Given the description of an element on the screen output the (x, y) to click on. 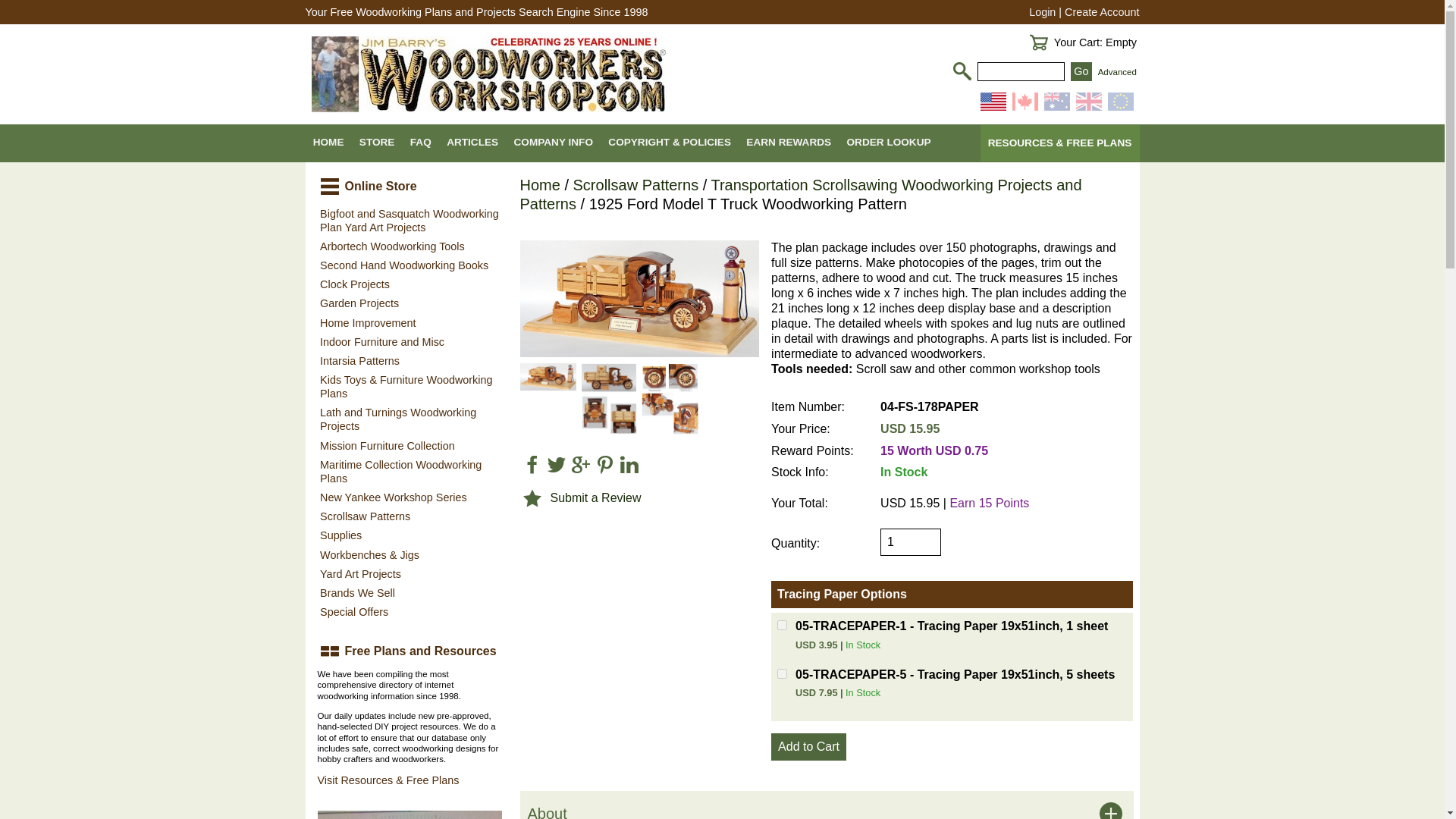
Garden Projects (408, 303)
Home (539, 184)
Second Hand Woodworking Books (408, 265)
Home (539, 184)
Bigfoot and Sasquatch Woodworking Plan Yard Art Projects (408, 219)
Scrollsaw Patterns (635, 184)
Clock Projects (408, 284)
Add to Cart (808, 746)
Arbortech Woodworking Tools (408, 245)
Go (1081, 71)
Submit a Review (596, 497)
Submit a Review (596, 497)
1 (910, 542)
1925 Ford Model T Truck Woodworking Pattern (639, 298)
